Given the description of an element on the screen output the (x, y) to click on. 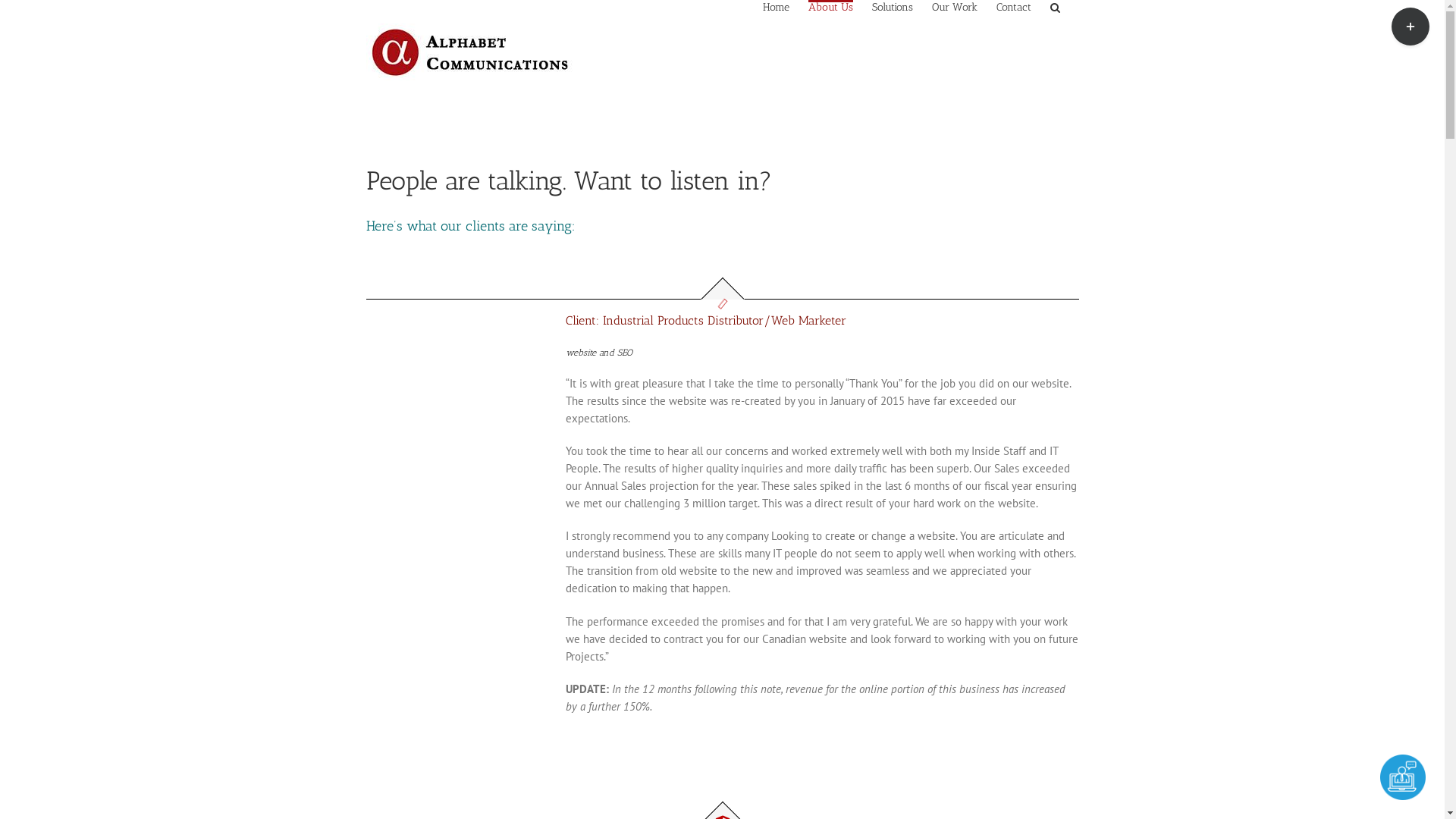
Contact Element type: text (1013, 6)
Home Element type: text (775, 6)
About Us Element type: text (830, 6)
Solutions Element type: text (892, 6)
Our Work Element type: text (953, 6)
Toggle Sliding Bar Area Element type: text (1410, 26)
Search Element type: hover (1054, 6)
